Given the description of an element on the screen output the (x, y) to click on. 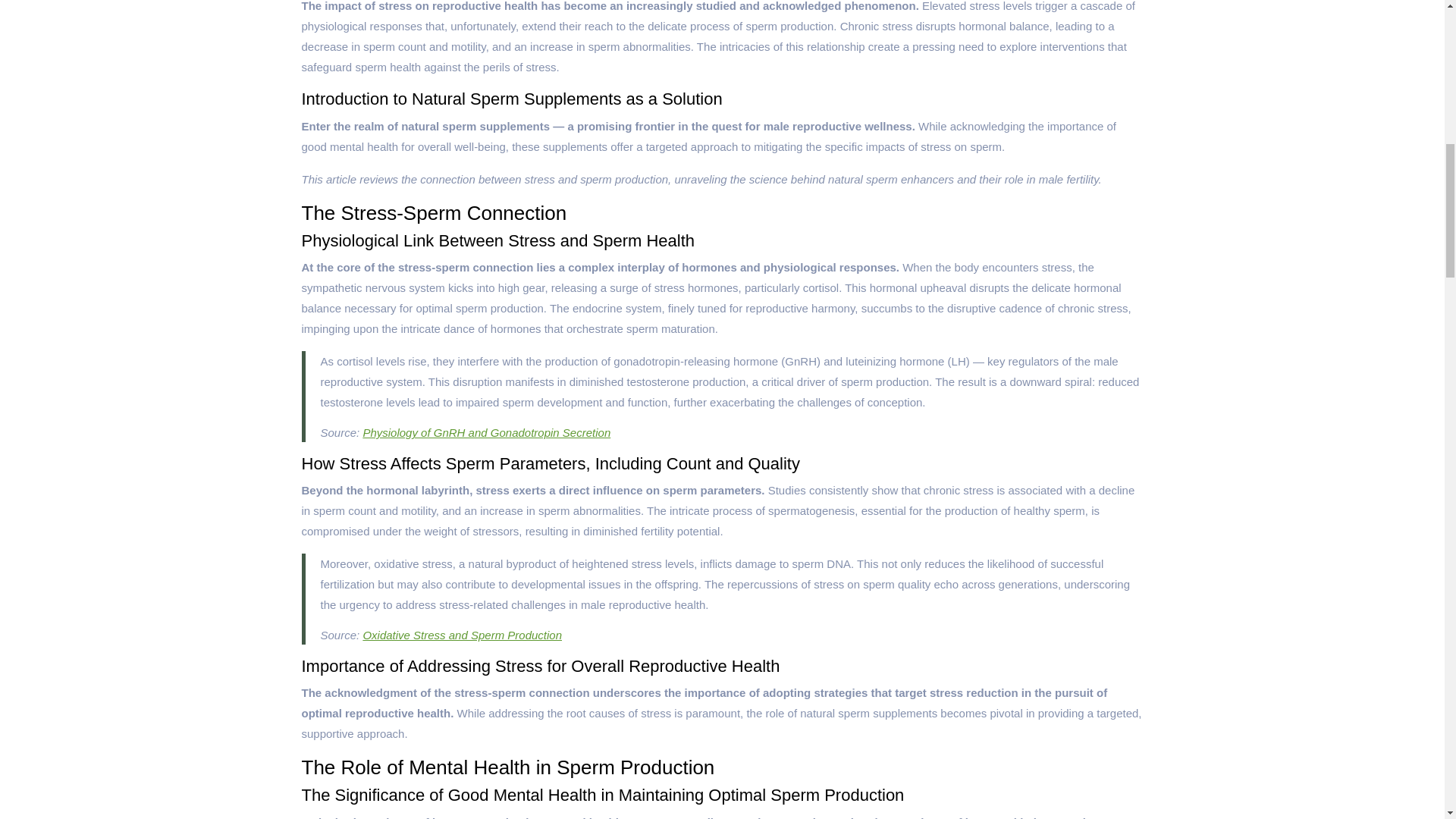
Physiology of GnRH and Gonadotropin Secretion (486, 431)
Oxidative Stress and Sperm Production (462, 634)
